Given the description of an element on the screen output the (x, y) to click on. 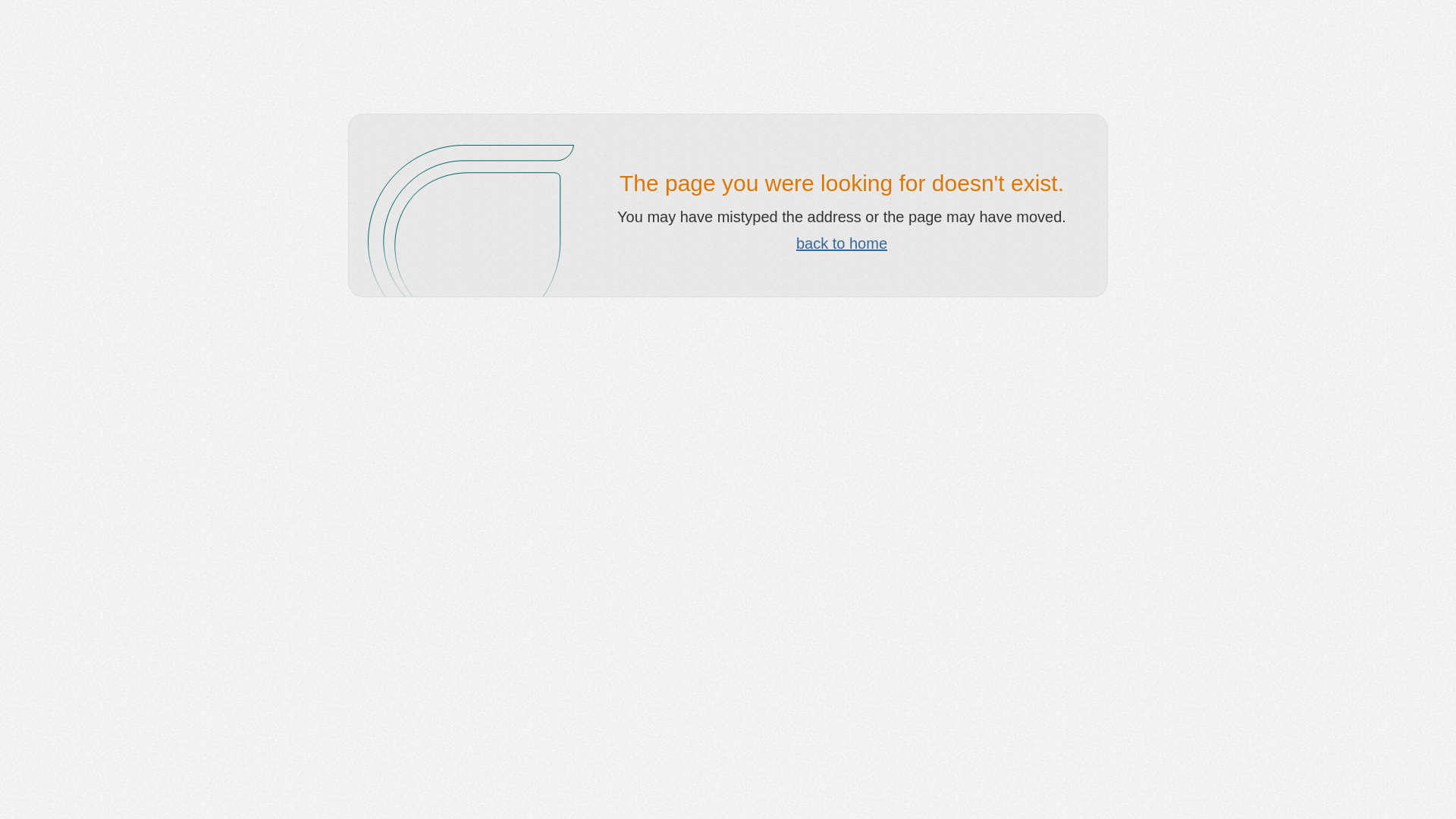
back to home Element type: text (841, 243)
